Given the description of an element on the screen output the (x, y) to click on. 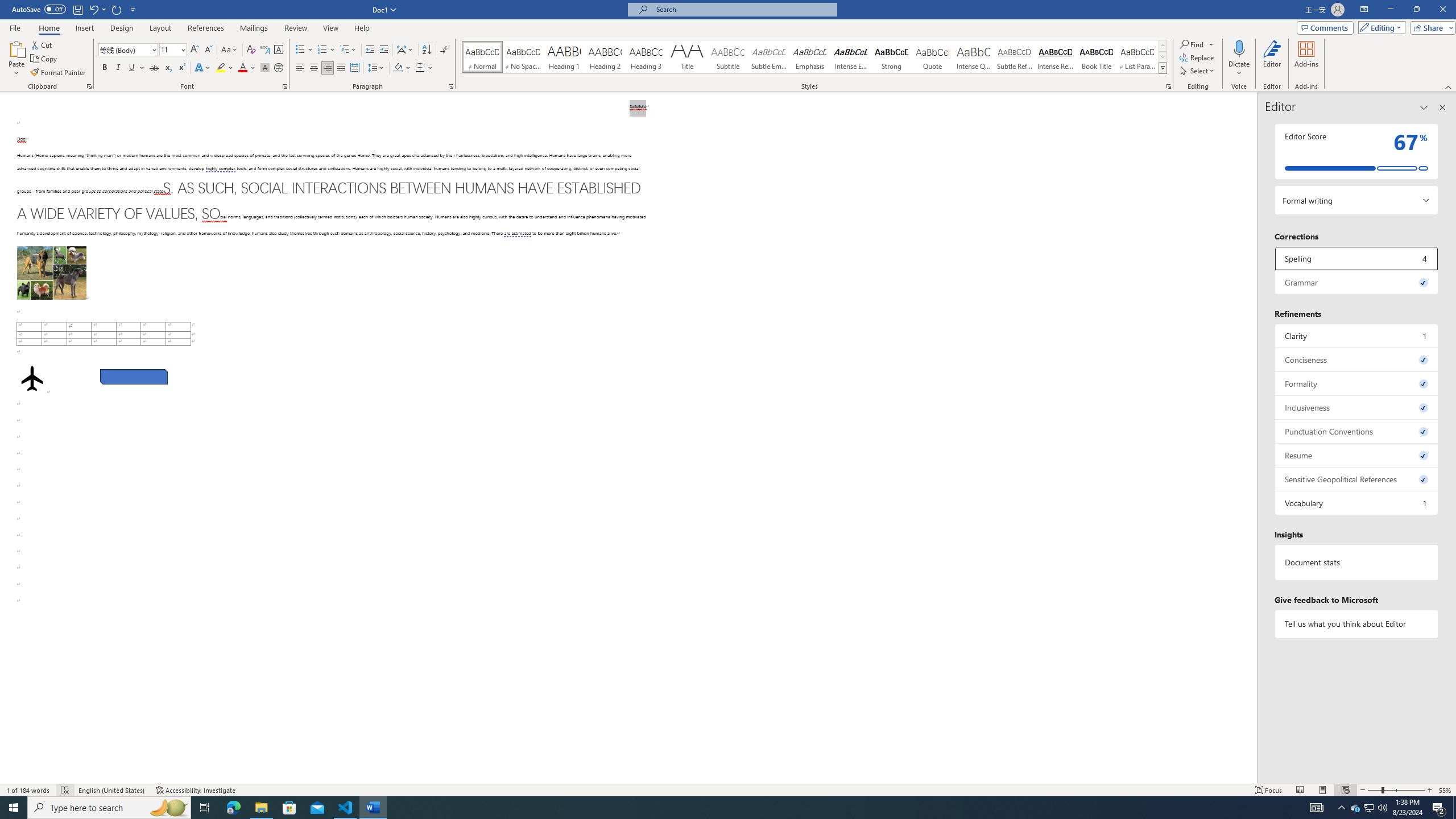
Subtitle (727, 56)
